Given the description of an element on the screen output the (x, y) to click on. 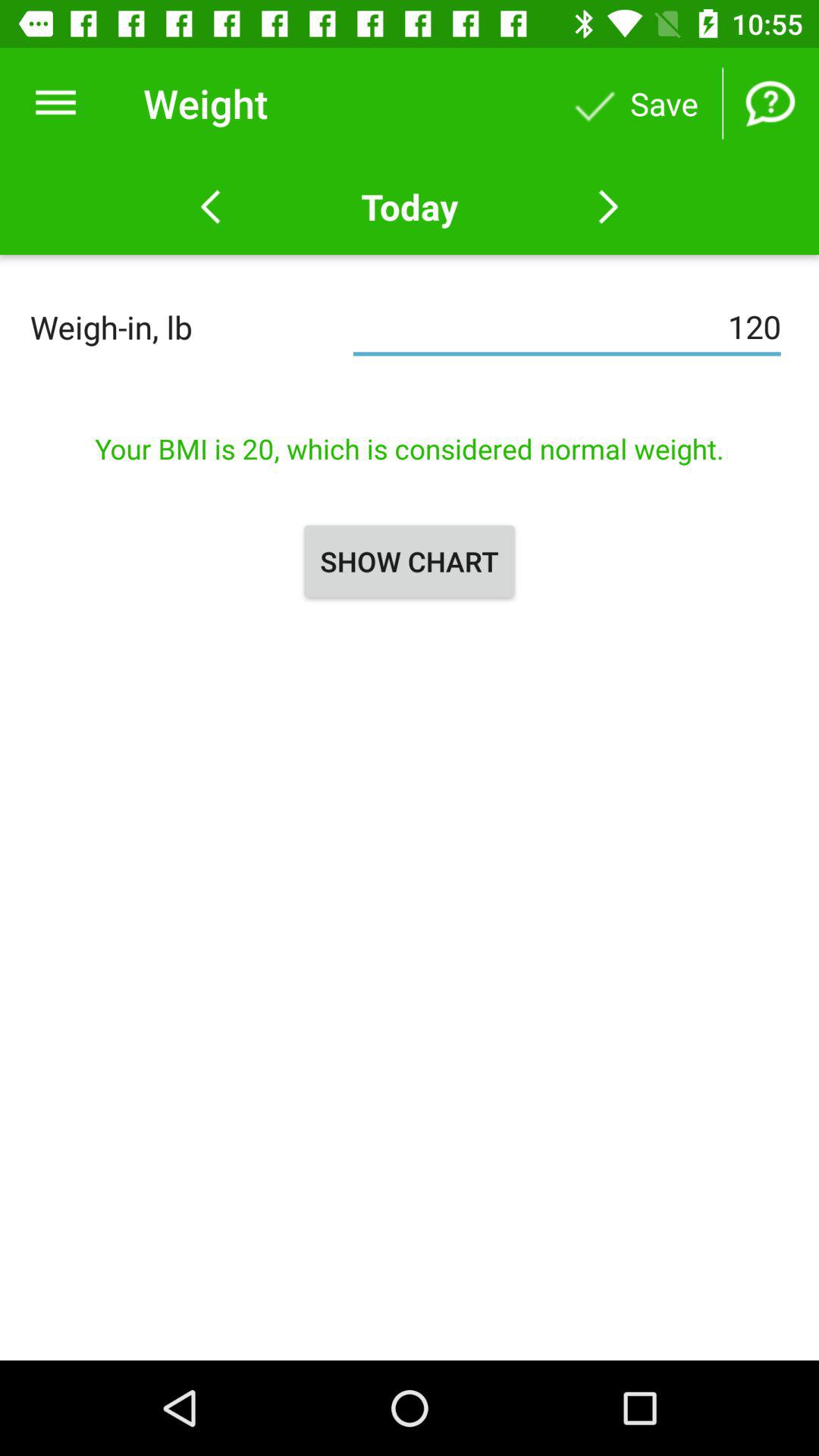
go to yesterday (210, 206)
